Given the description of an element on the screen output the (x, y) to click on. 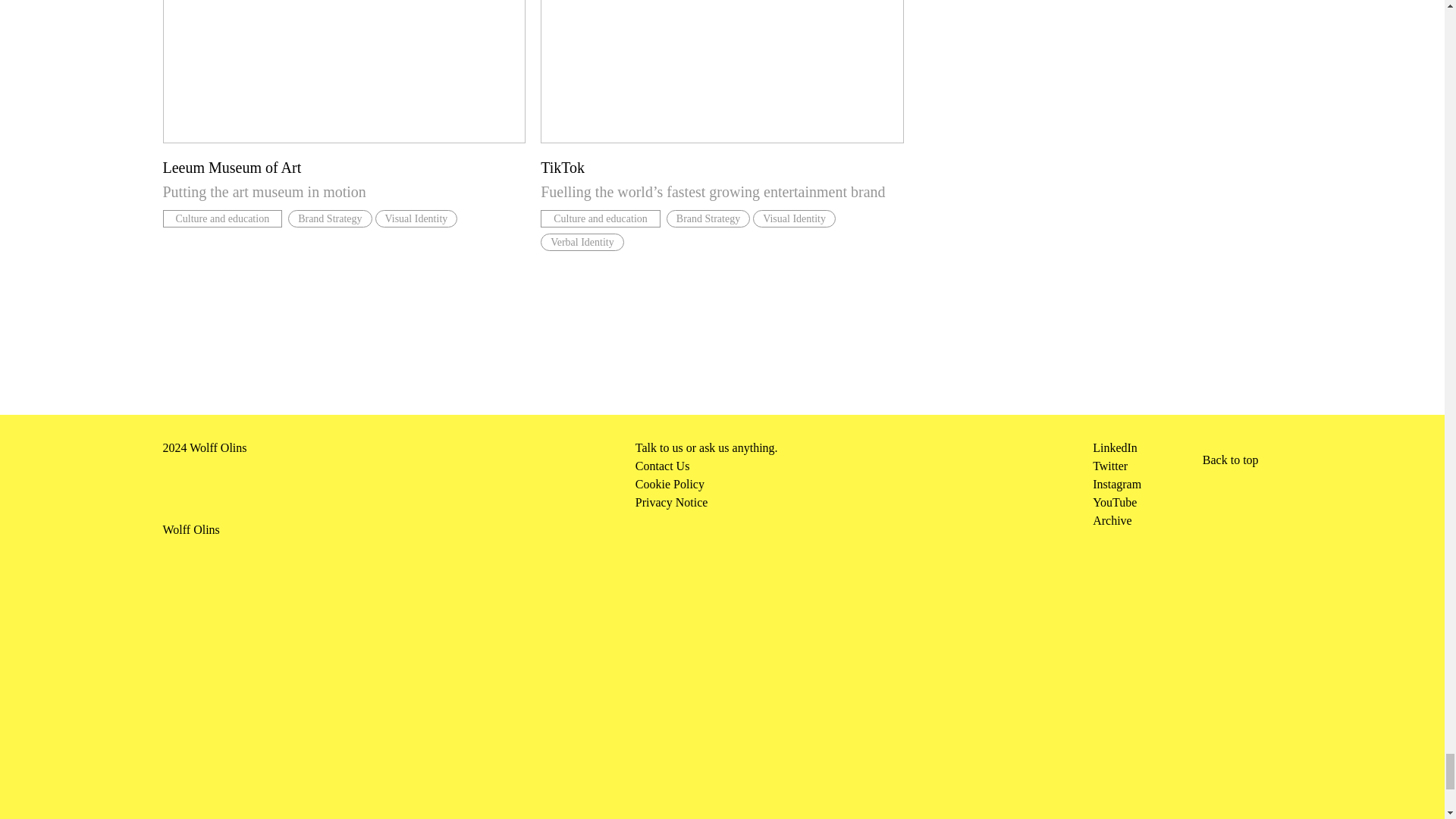
Cookie Policy (863, 484)
Contact Us (863, 466)
LinkedIn (1115, 447)
Instagram (1117, 483)
Privacy Notice (863, 502)
Twitter (1109, 465)
YouTube (1115, 502)
Archive (1112, 520)
Back to top (1230, 457)
